Given the description of an element on the screen output the (x, y) to click on. 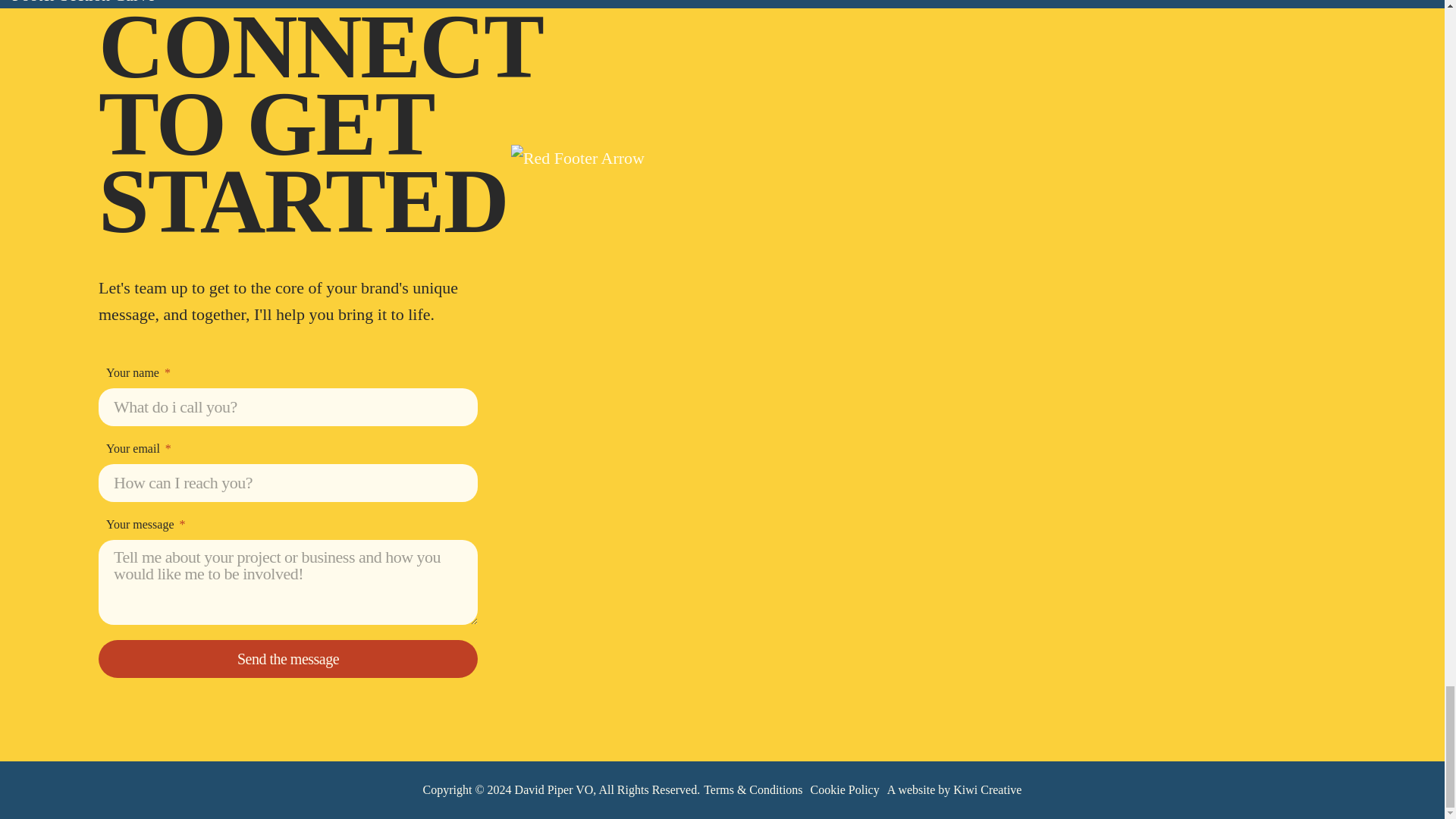
A website by Kiwi Creative (954, 790)
Cookie Policy (844, 790)
Send the message (288, 658)
